Given the description of an element on the screen output the (x, y) to click on. 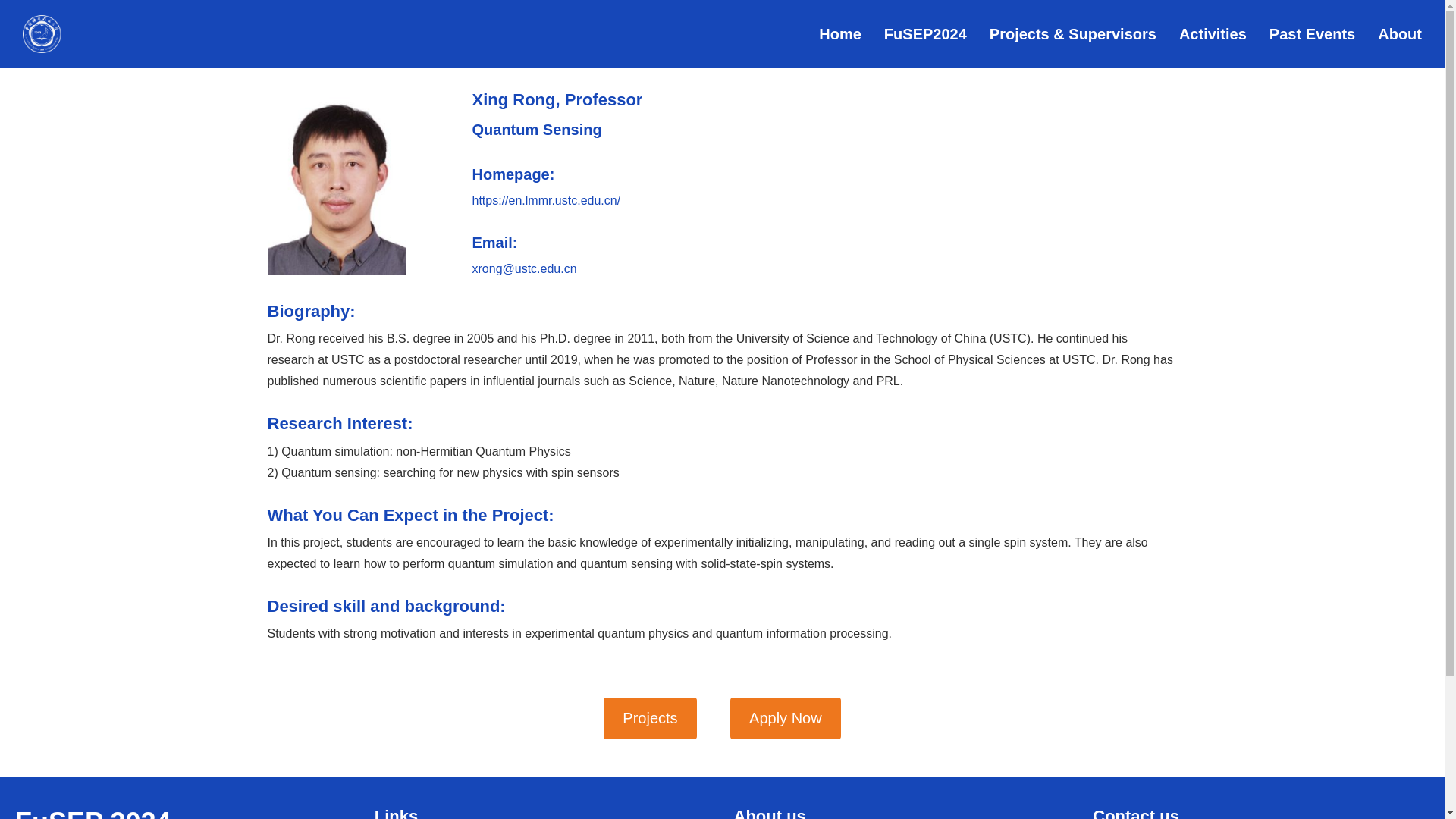
FuSEP2024 (924, 34)
About (1399, 34)
Apply Now (785, 718)
Projects (649, 718)
Activities (1212, 34)
Past Events (1312, 34)
Home (839, 34)
